Given the description of an element on the screen output the (x, y) to click on. 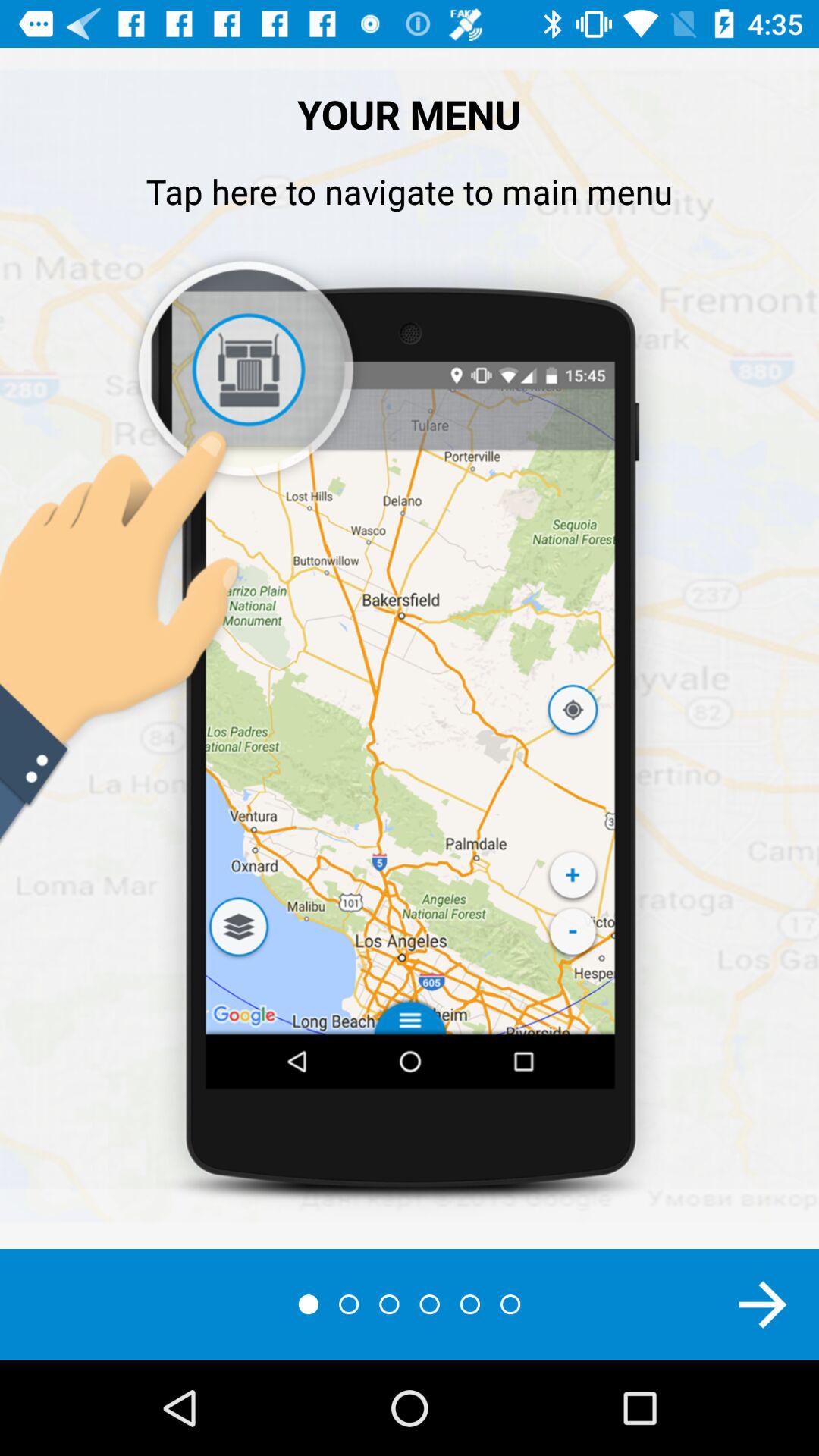
go to next (763, 1304)
